Given the description of an element on the screen output the (x, y) to click on. 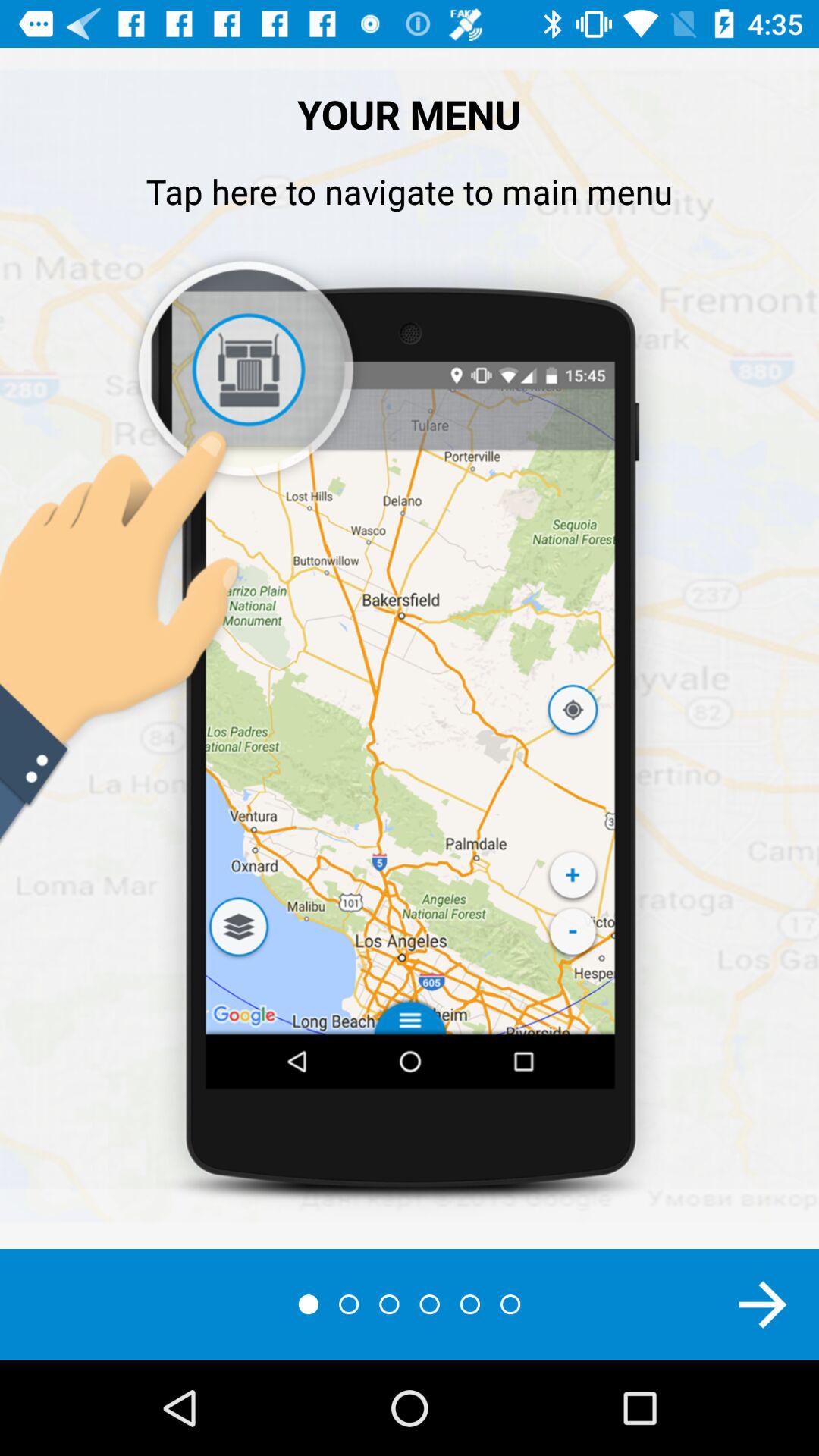
go to next (763, 1304)
